Given the description of an element on the screen output the (x, y) to click on. 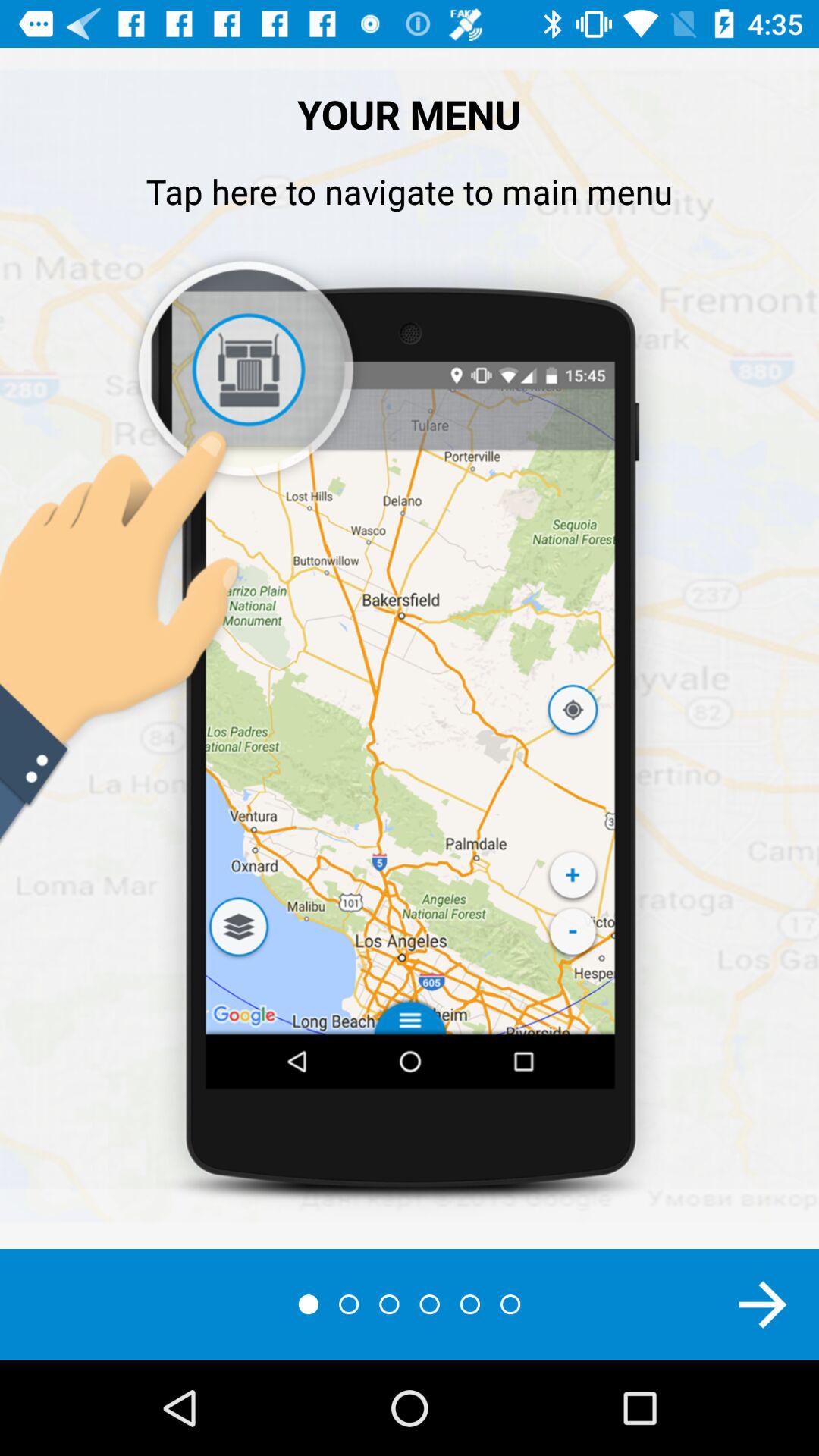
go to next (763, 1304)
